Given the description of an element on the screen output the (x, y) to click on. 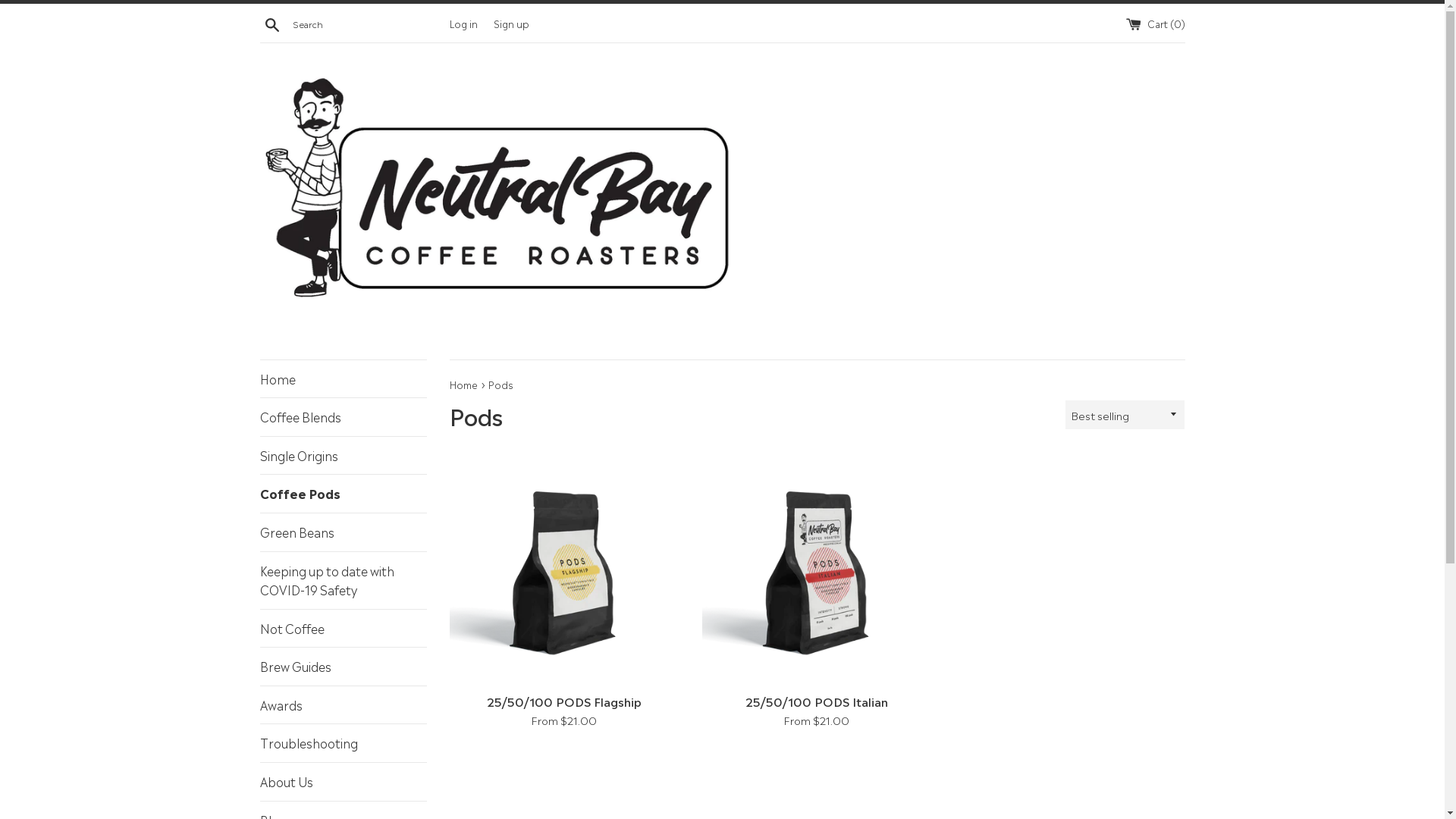
Home Element type: text (342, 379)
Coffee Pods Element type: text (342, 493)
25/50/100 PODS Flagship Element type: hover (563, 569)
Coffee Blends Element type: text (342, 417)
Not Coffee Element type: text (342, 628)
25/50/100 PODS Italian Element type: text (816, 700)
Troubleshooting Element type: text (342, 743)
Keeping up to date with COVID-19 Safety Element type: text (342, 580)
Brew Guides Element type: text (342, 666)
About Us Element type: text (342, 781)
Search Element type: text (271, 23)
Green Beans Element type: text (342, 532)
25/50/100 PODS Flagship Element type: text (563, 700)
Log in Element type: text (462, 22)
Awards Element type: text (342, 705)
Single Origins Element type: text (342, 455)
Sign up Element type: text (510, 22)
Home Element type: text (463, 383)
Cart (0) Element type: text (1154, 22)
25/50/100 PODS Italian Element type: hover (816, 569)
